Given the description of an element on the screen output the (x, y) to click on. 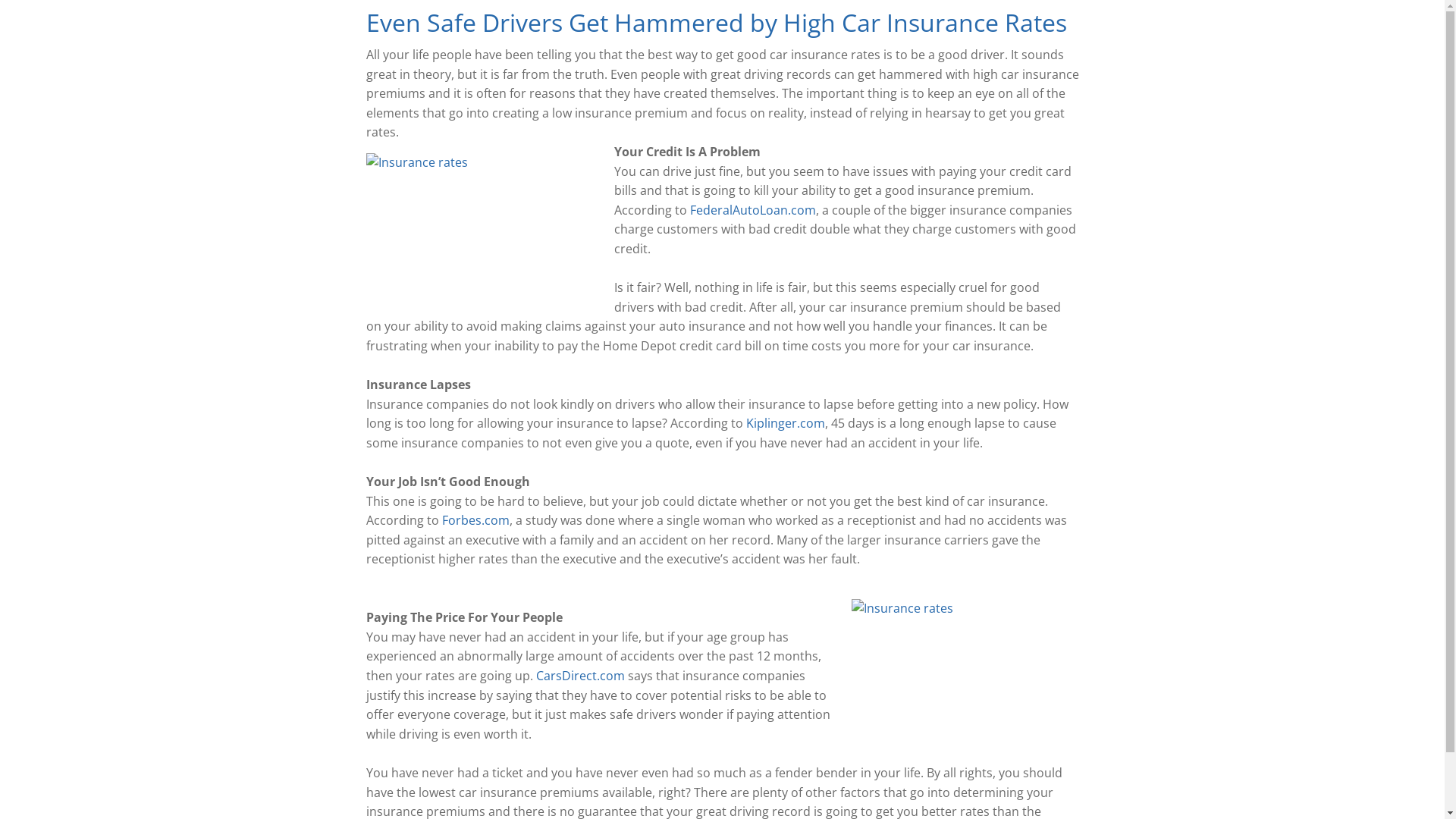
Kiplinger.com Element type: text (785, 422)
CarsDirect.com Element type: text (579, 675)
FederalAutoLoan.com Element type: text (752, 209)
Forbes.com Element type: text (474, 519)
